Given the description of an element on the screen output the (x, y) to click on. 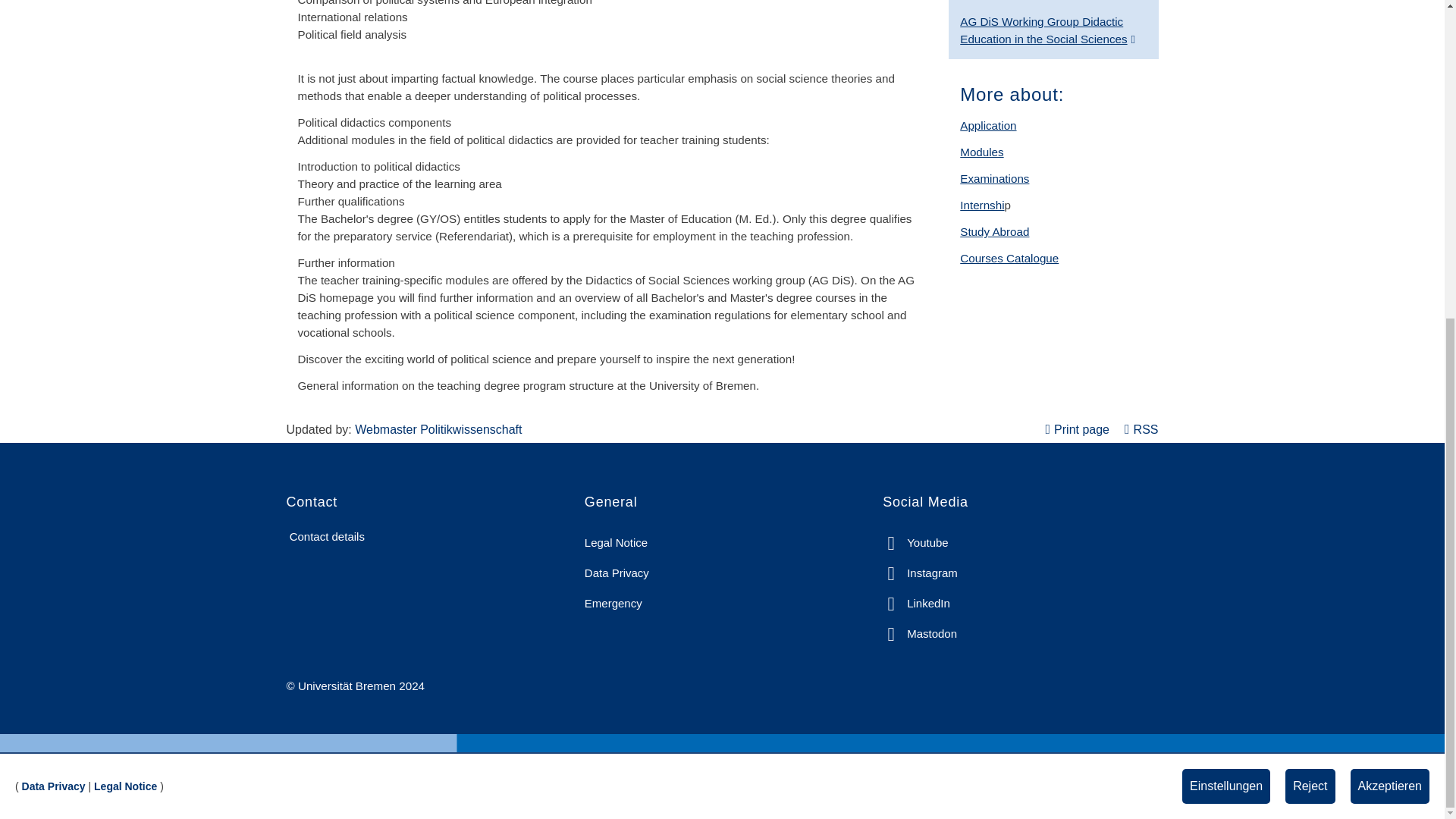
Open link to Linked In in a new window (916, 603)
Open link to Mastodon in a new window (919, 633)
Opens external link in new window (1047, 30)
Open link to Instagram in a new window (920, 572)
Seite als RSS Feed (1140, 429)
Scroll to the bottom of the page (1411, 271)
